Given the description of an element on the screen output the (x, y) to click on. 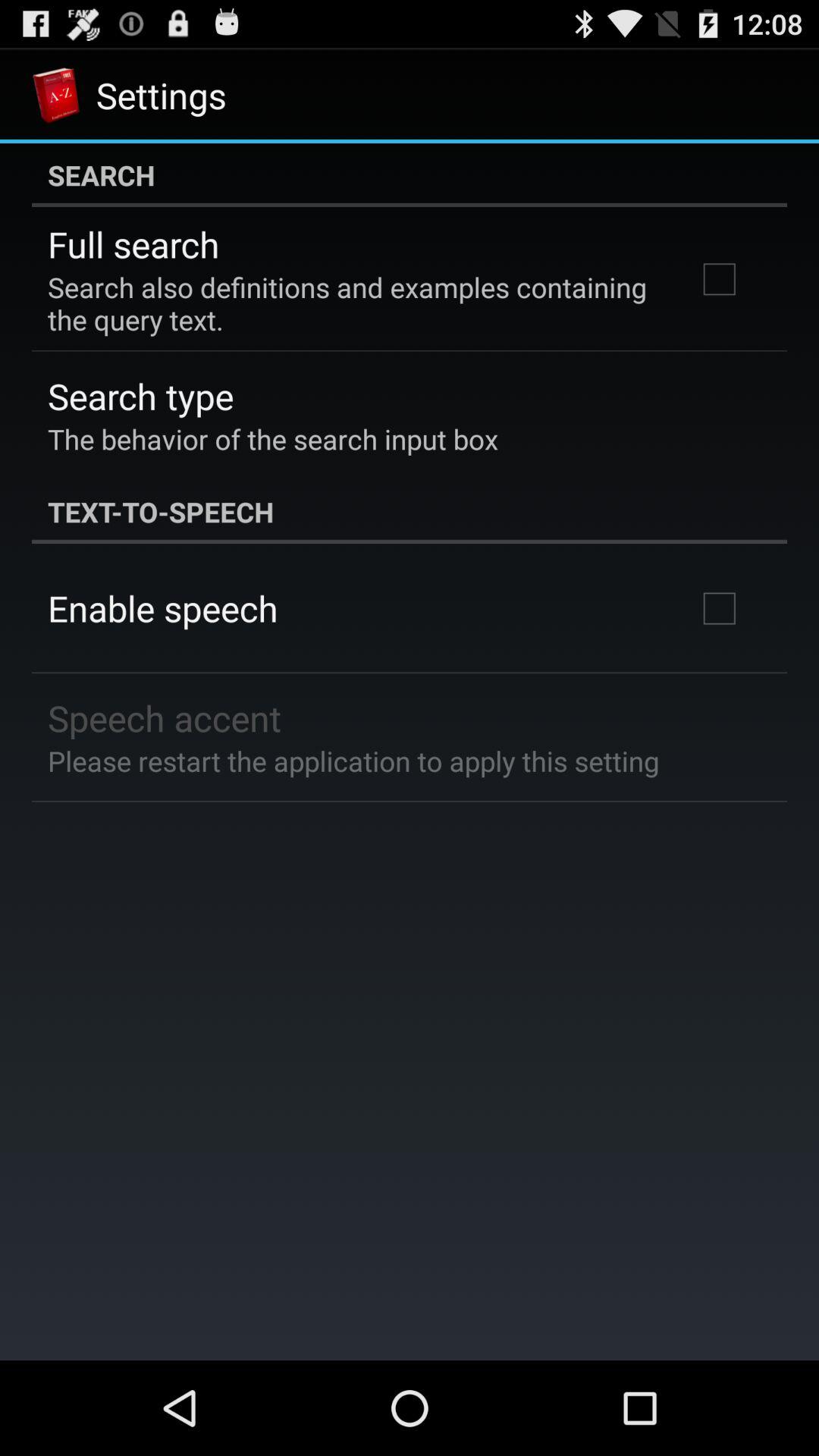
open item below the search type app (272, 438)
